Given the description of an element on the screen output the (x, y) to click on. 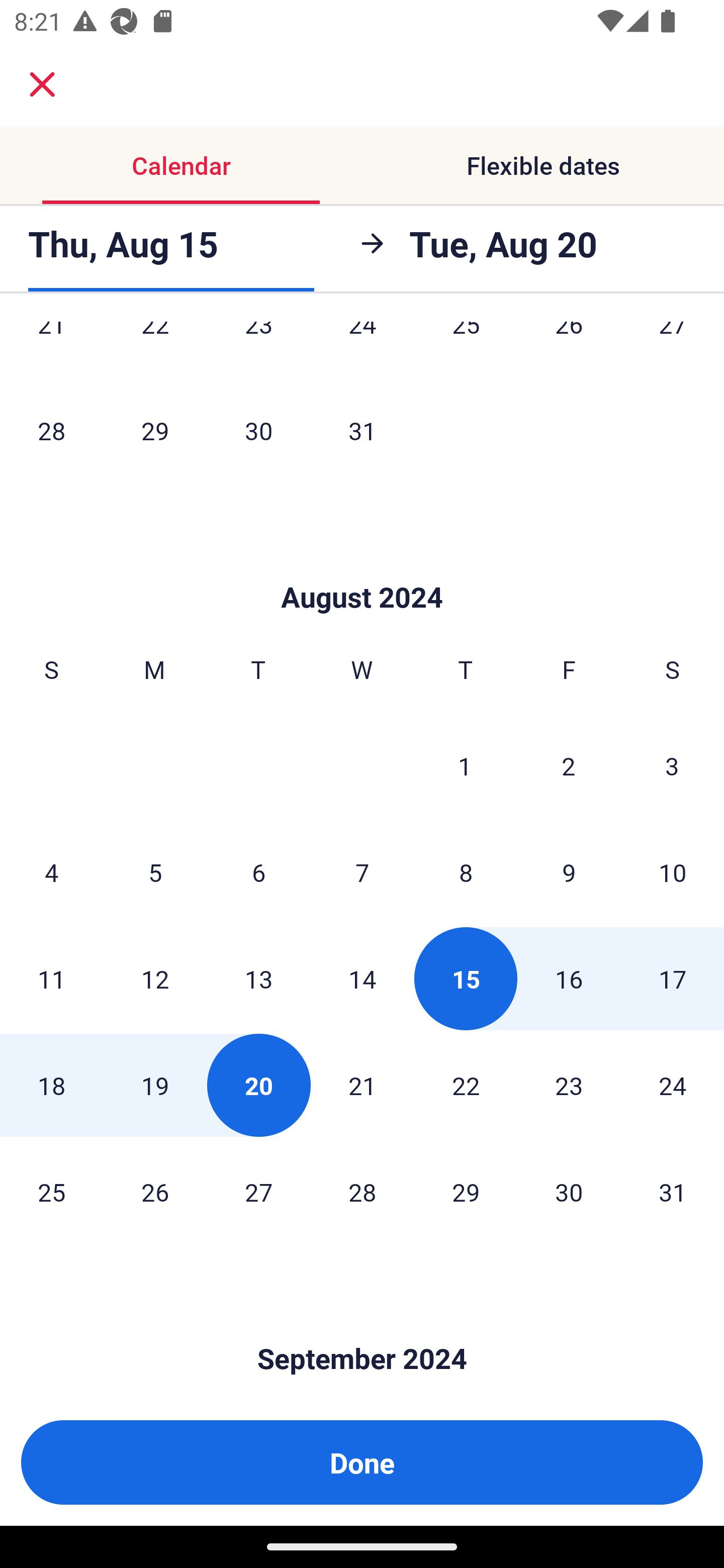
close. (42, 84)
Flexible dates (542, 164)
28 Sunday, July 28, 2024 (51, 430)
29 Monday, July 29, 2024 (155, 430)
30 Tuesday, July 30, 2024 (258, 430)
31 Wednesday, July 31, 2024 (362, 430)
Skip to Done (362, 567)
1 Thursday, August 1, 2024 (464, 764)
2 Friday, August 2, 2024 (568, 764)
3 Saturday, August 3, 2024 (672, 764)
4 Sunday, August 4, 2024 (51, 871)
5 Monday, August 5, 2024 (155, 871)
6 Tuesday, August 6, 2024 (258, 871)
7 Wednesday, August 7, 2024 (362, 871)
8 Thursday, August 8, 2024 (465, 871)
9 Friday, August 9, 2024 (569, 871)
10 Saturday, August 10, 2024 (672, 871)
11 Sunday, August 11, 2024 (51, 978)
12 Monday, August 12, 2024 (155, 978)
13 Tuesday, August 13, 2024 (258, 978)
14 Wednesday, August 14, 2024 (362, 978)
21 Wednesday, August 21, 2024 (362, 1084)
22 Thursday, August 22, 2024 (465, 1084)
23 Friday, August 23, 2024 (569, 1084)
24 Saturday, August 24, 2024 (672, 1084)
25 Sunday, August 25, 2024 (51, 1191)
26 Monday, August 26, 2024 (155, 1191)
27 Tuesday, August 27, 2024 (258, 1191)
28 Wednesday, August 28, 2024 (362, 1191)
29 Thursday, August 29, 2024 (465, 1191)
30 Friday, August 30, 2024 (569, 1191)
31 Saturday, August 31, 2024 (672, 1191)
Skip to Done (362, 1328)
Done (361, 1462)
